Given the description of an element on the screen output the (x, y) to click on. 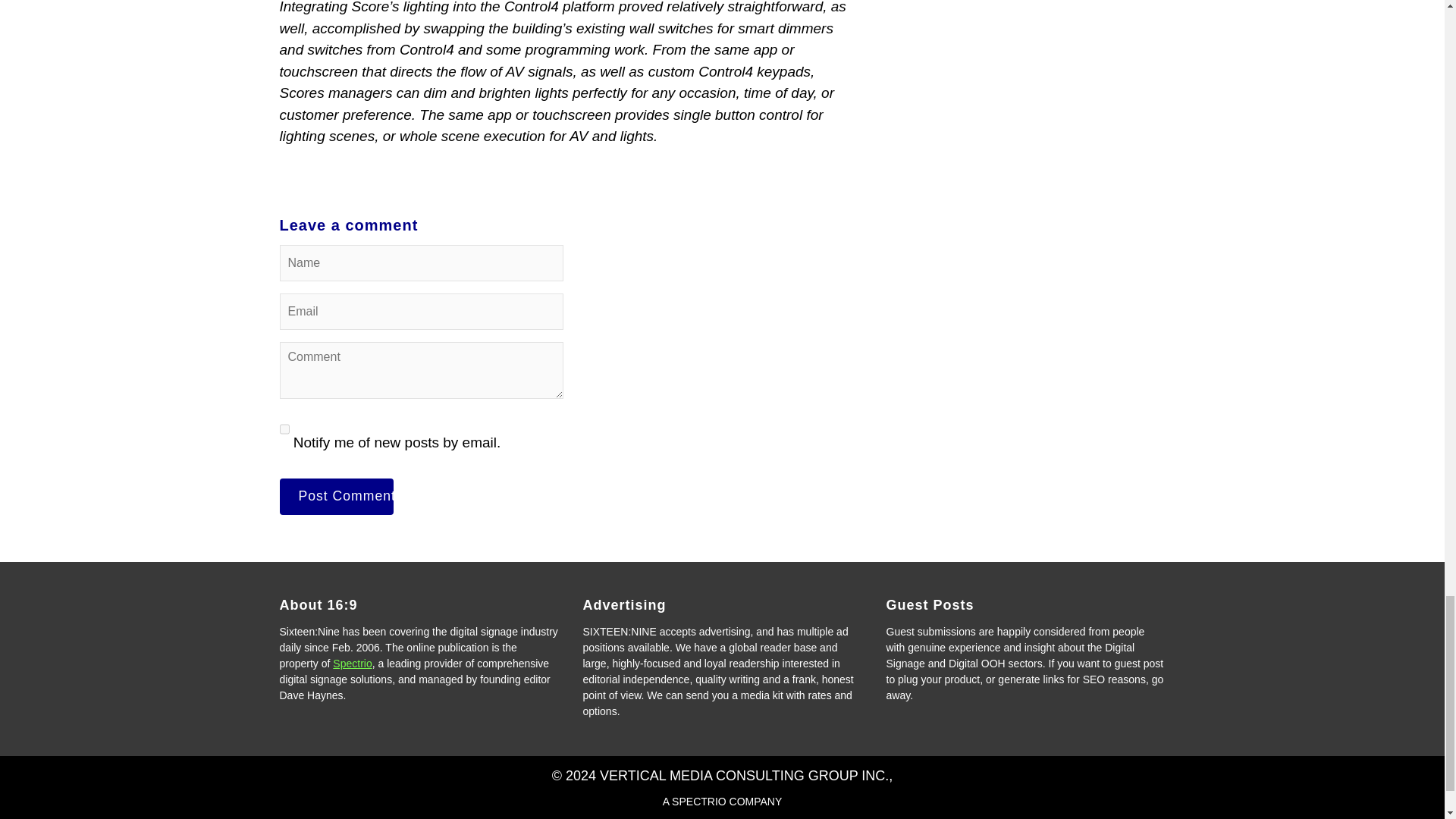
Post Comment (336, 496)
Spectrio (352, 663)
Post Comment (336, 496)
A SPECTRIO COMPANY (721, 801)
